Given the description of an element on the screen output the (x, y) to click on. 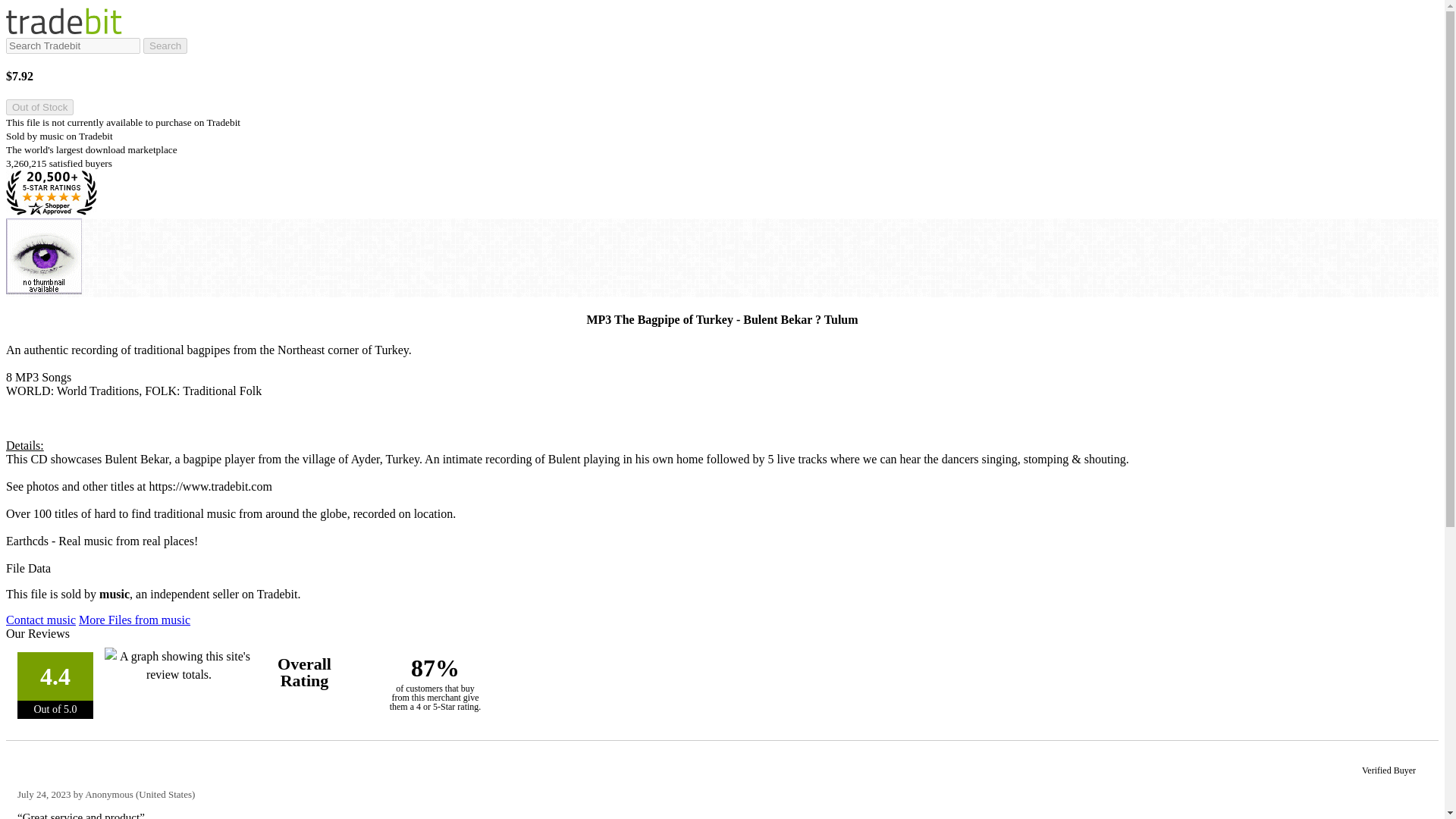
Search (164, 45)
More Files from music (134, 619)
Out of Stock (39, 107)
Contact music (40, 619)
